Given the description of an element on the screen output the (x, y) to click on. 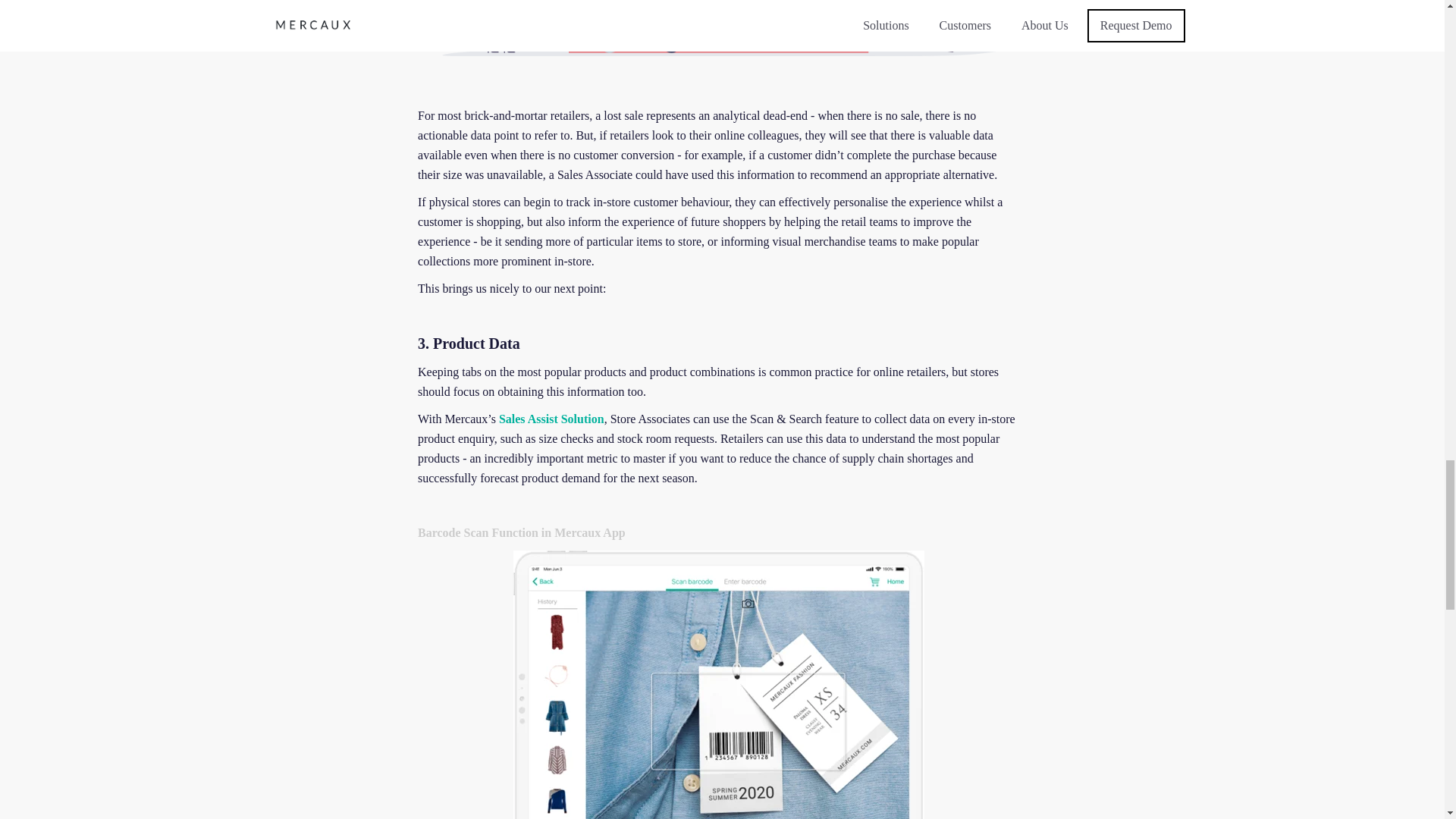
Sales Assist Solution (551, 418)
